Given the description of an element on the screen output the (x, y) to click on. 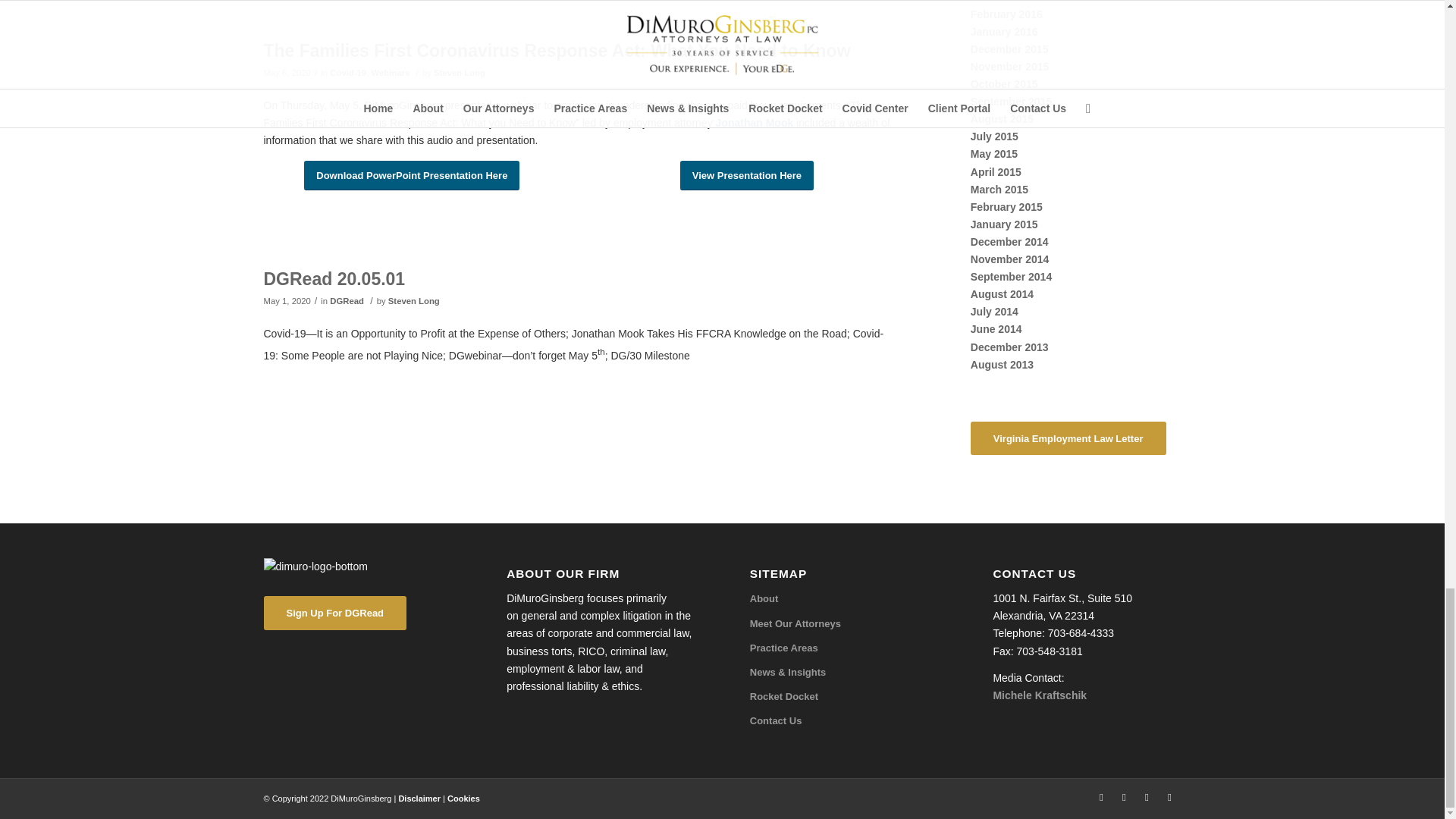
Posts by Steven Long (458, 71)
Facebook (1146, 797)
Permanent Link: DGRead 20.05.01 (334, 279)
Posts by Steven Long (413, 300)
Linkedin (1124, 797)
Twitter (1101, 797)
